Given the description of an element on the screen output the (x, y) to click on. 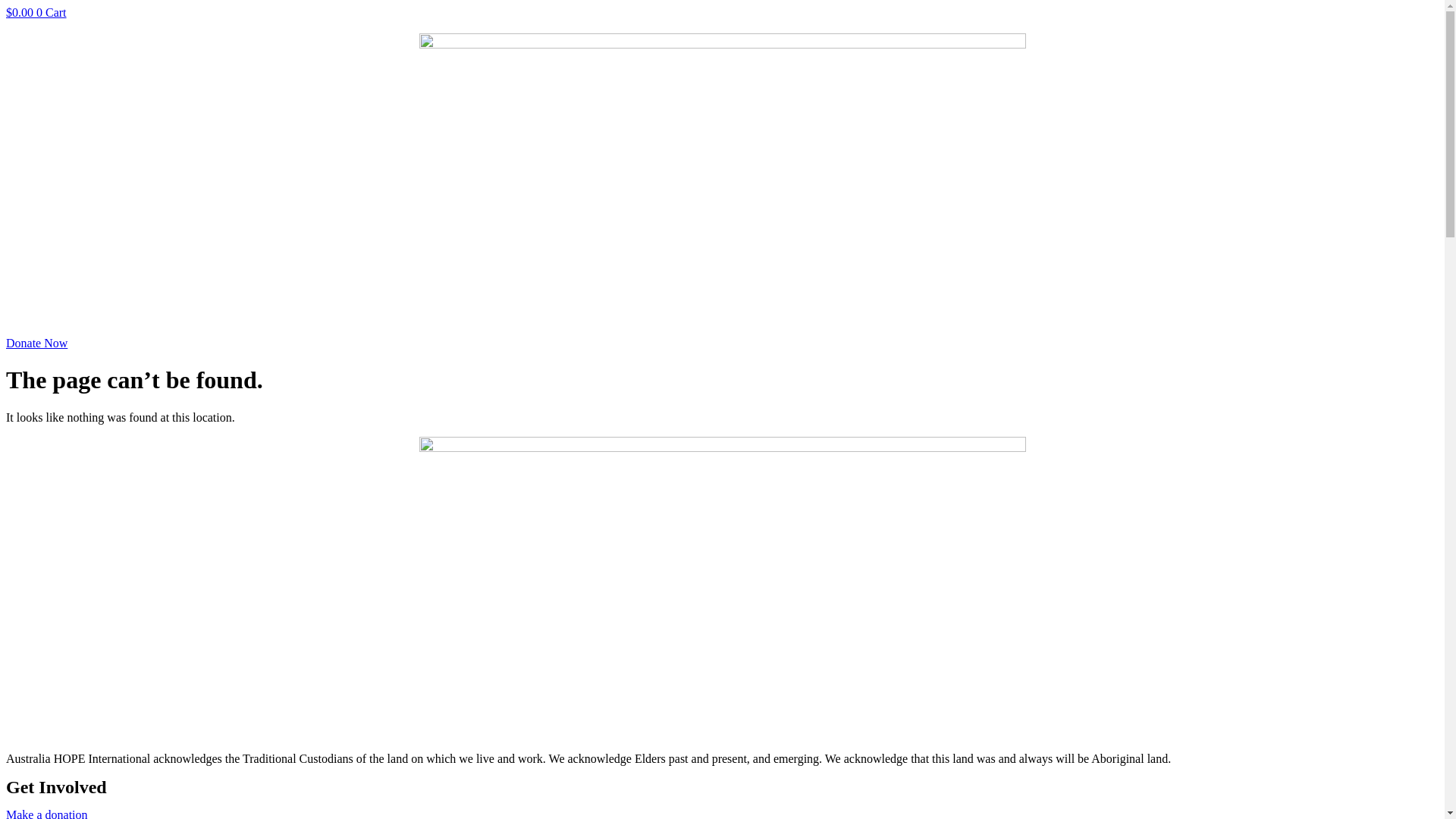
$0.00 0 Cart Element type: text (36, 12)
Donate Now Element type: text (36, 342)
Skip to content Element type: text (5, 5)
